Given the description of an element on the screen output the (x, y) to click on. 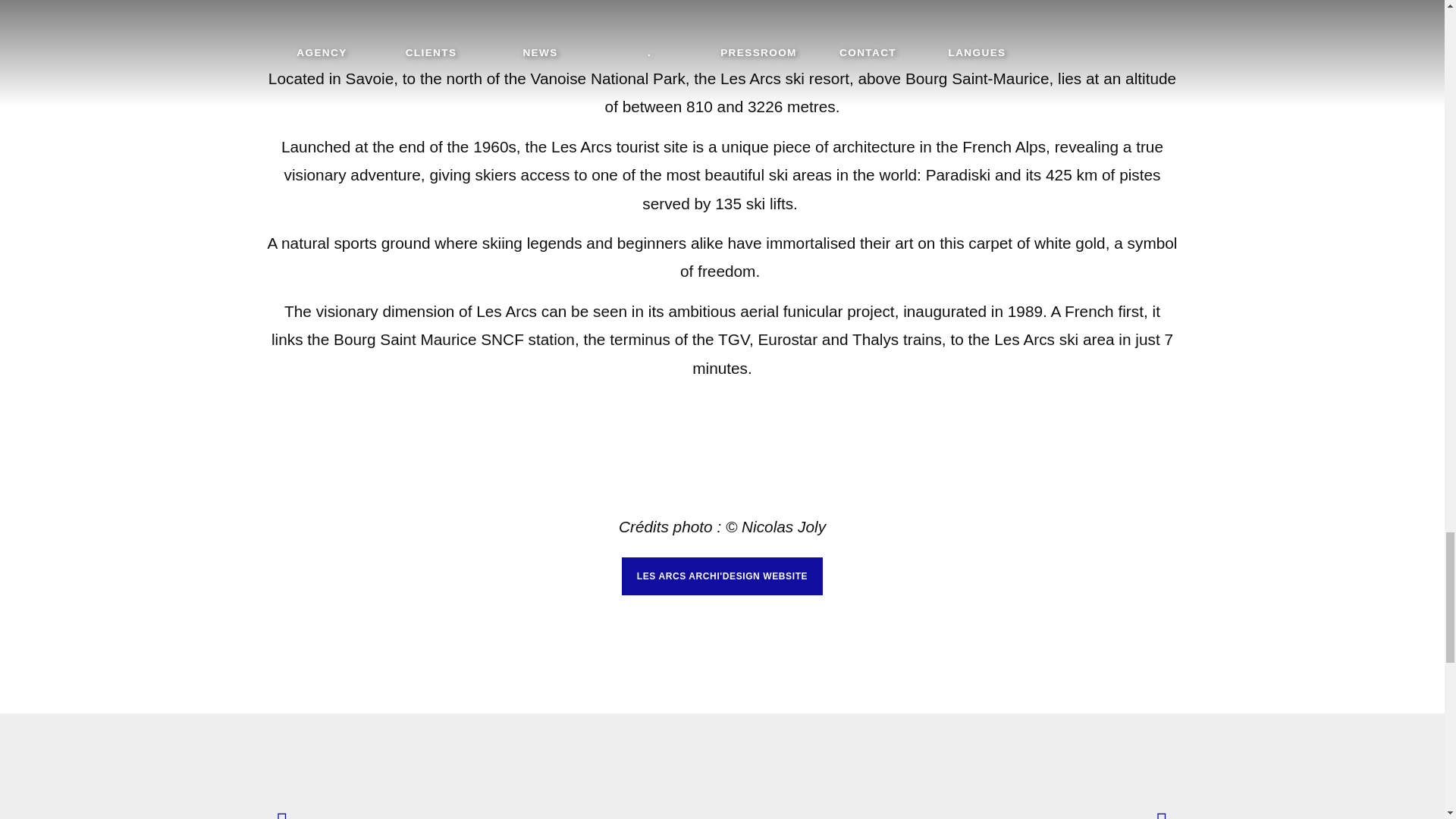
CLIENT SUIVANT (1157, 811)
LES ARCS ARCHI'DESIGN WEBSITE (721, 576)
